Given the description of an element on the screen output the (x, y) to click on. 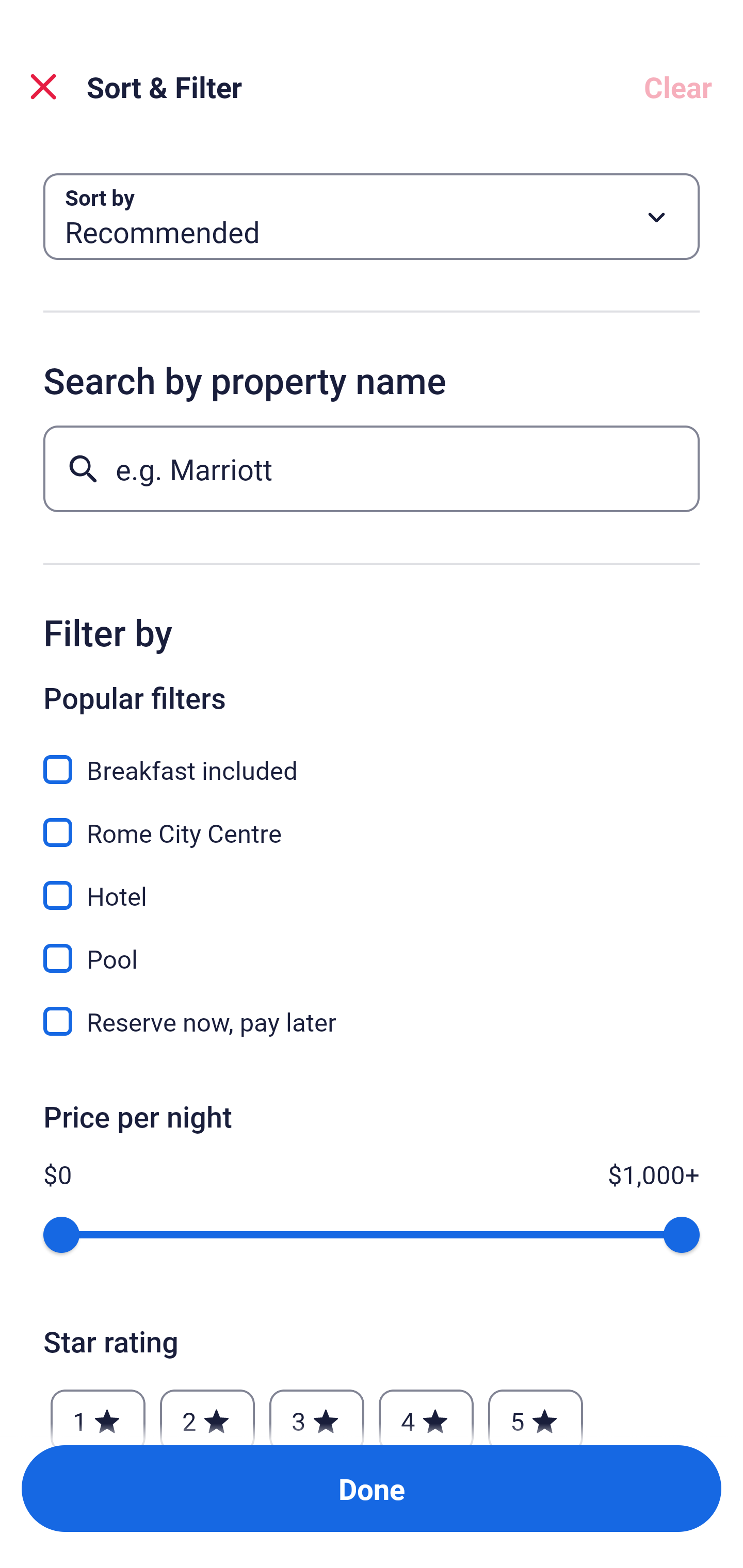
Close Sort and Filter (43, 86)
Clear (677, 86)
Sort by Button Recommended (371, 217)
e.g. Marriott Button (371, 468)
Breakfast included, Breakfast included (371, 757)
Rome City Centre, Rome City Centre (371, 821)
Hotel, Hotel (371, 883)
Pool, Pool (371, 946)
Reserve now, pay later, Reserve now, pay later (371, 1021)
1 (97, 1411)
2 (206, 1411)
3 (316, 1411)
4 (426, 1411)
5 (535, 1411)
Apply and close Sort and Filter Done (371, 1488)
